Given the description of an element on the screen output the (x, y) to click on. 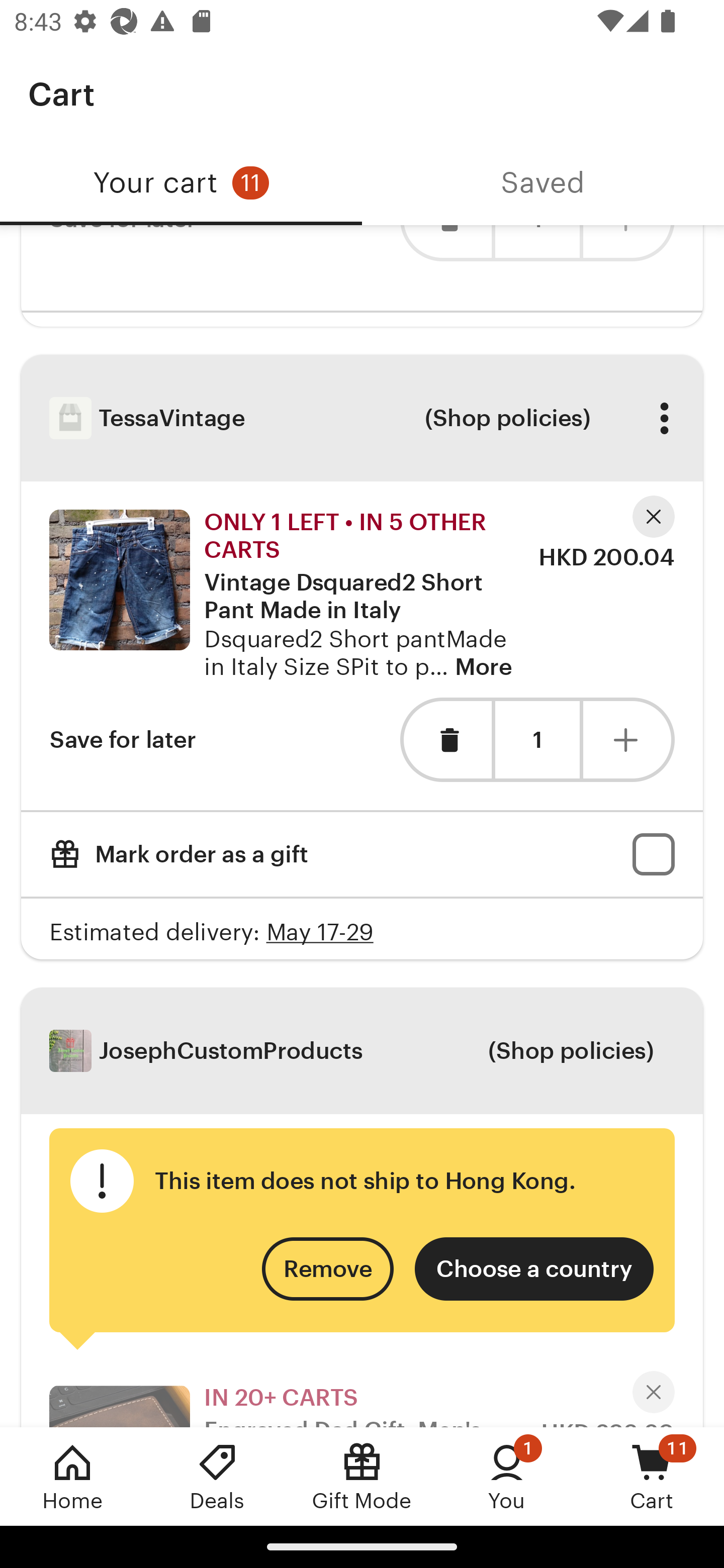
Saved, tab 2 of 2 Saved (543, 183)
TessaVintage (Shop policies) More options (361, 417)
(Shop policies) (507, 418)
More options (663, 418)
Vintage Dsquared2 Short Pant Made in Italy (119, 579)
Vintage Dsquared2 Short Pant Made in Italy (360, 591)
Save for later (122, 739)
Remove item from cart (445, 739)
Add one unit to cart (628, 739)
1 (537, 739)
Mark order as a gift (361, 854)
JosephCustomProducts (Shop policies) (361, 1050)
(Shop policies) (570, 1050)
Remove (327, 1268)
Choose a country (533, 1268)
Home (72, 1475)
Deals (216, 1475)
Gift Mode (361, 1475)
You, 1 new notification You (506, 1475)
